Given the description of an element on the screen output the (x, y) to click on. 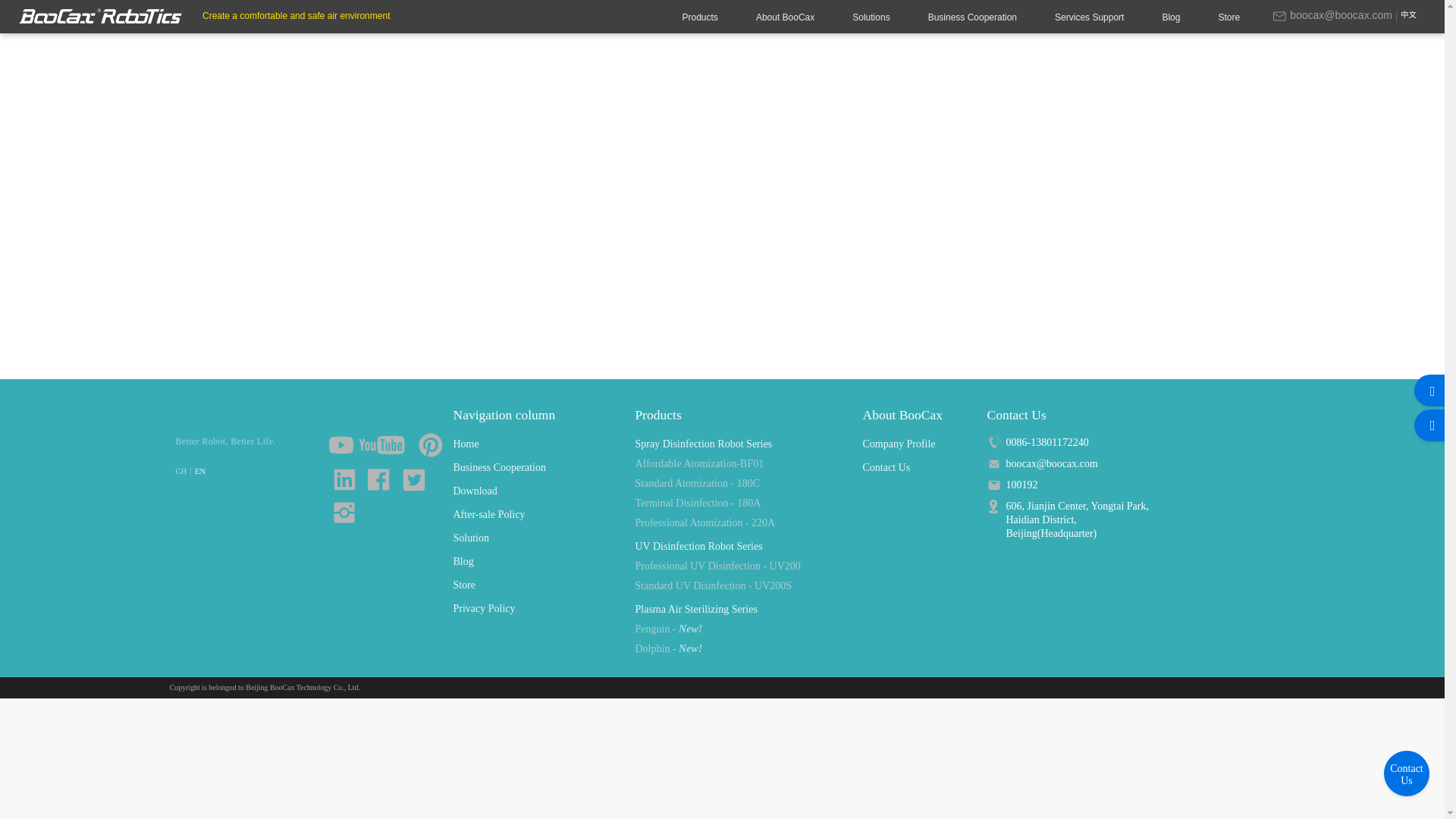
Business Cooperation (972, 16)
About BooCax (784, 16)
pinterest (432, 446)
linkedin (344, 479)
twitter (414, 480)
youtube (370, 446)
Solutions (870, 16)
facebook (379, 480)
instagram (344, 513)
Products (700, 16)
